Given the description of an element on the screen output the (x, y) to click on. 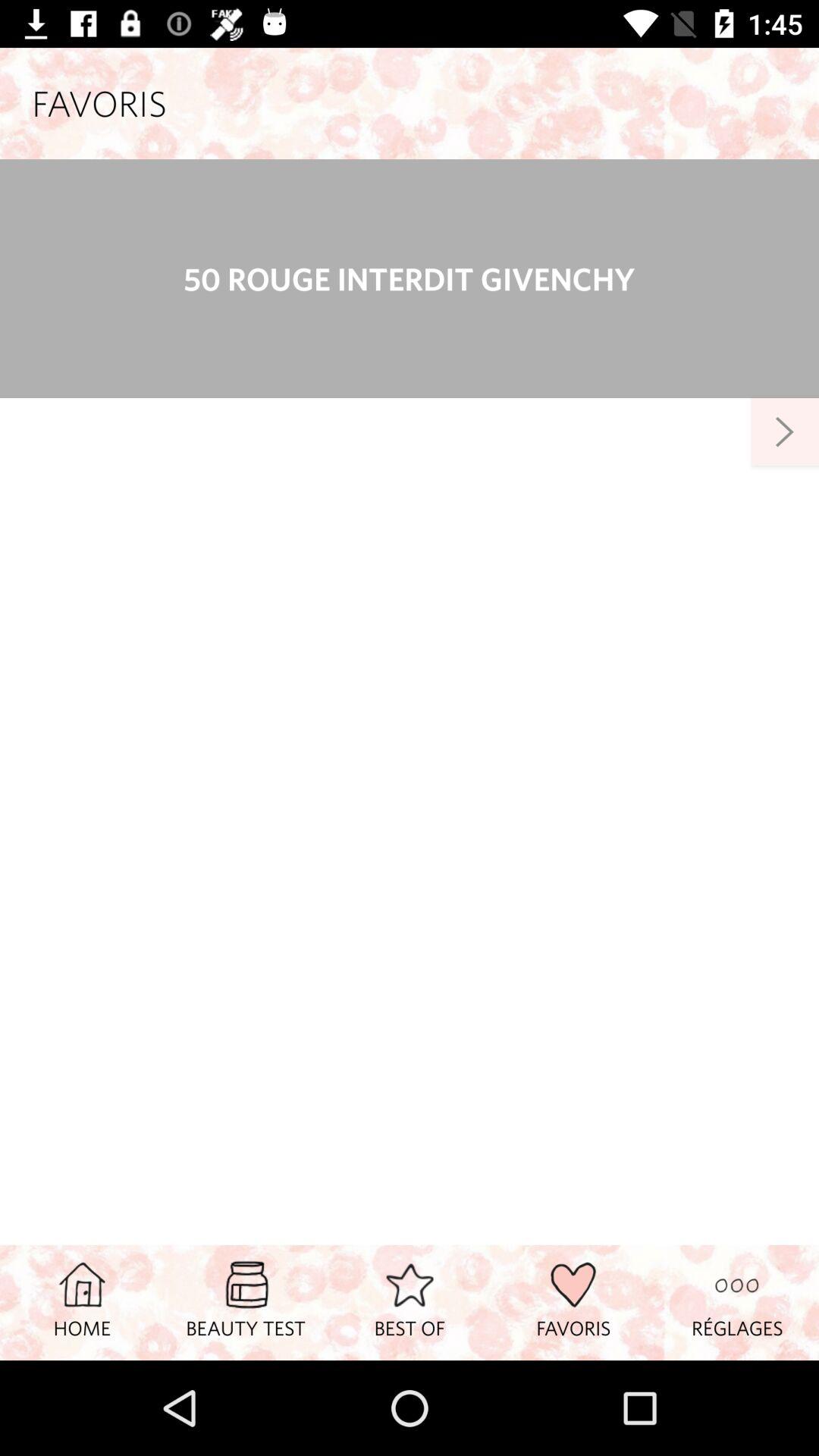
launch item next to the beauty test (81, 1302)
